Given the description of an element on the screen output the (x, y) to click on. 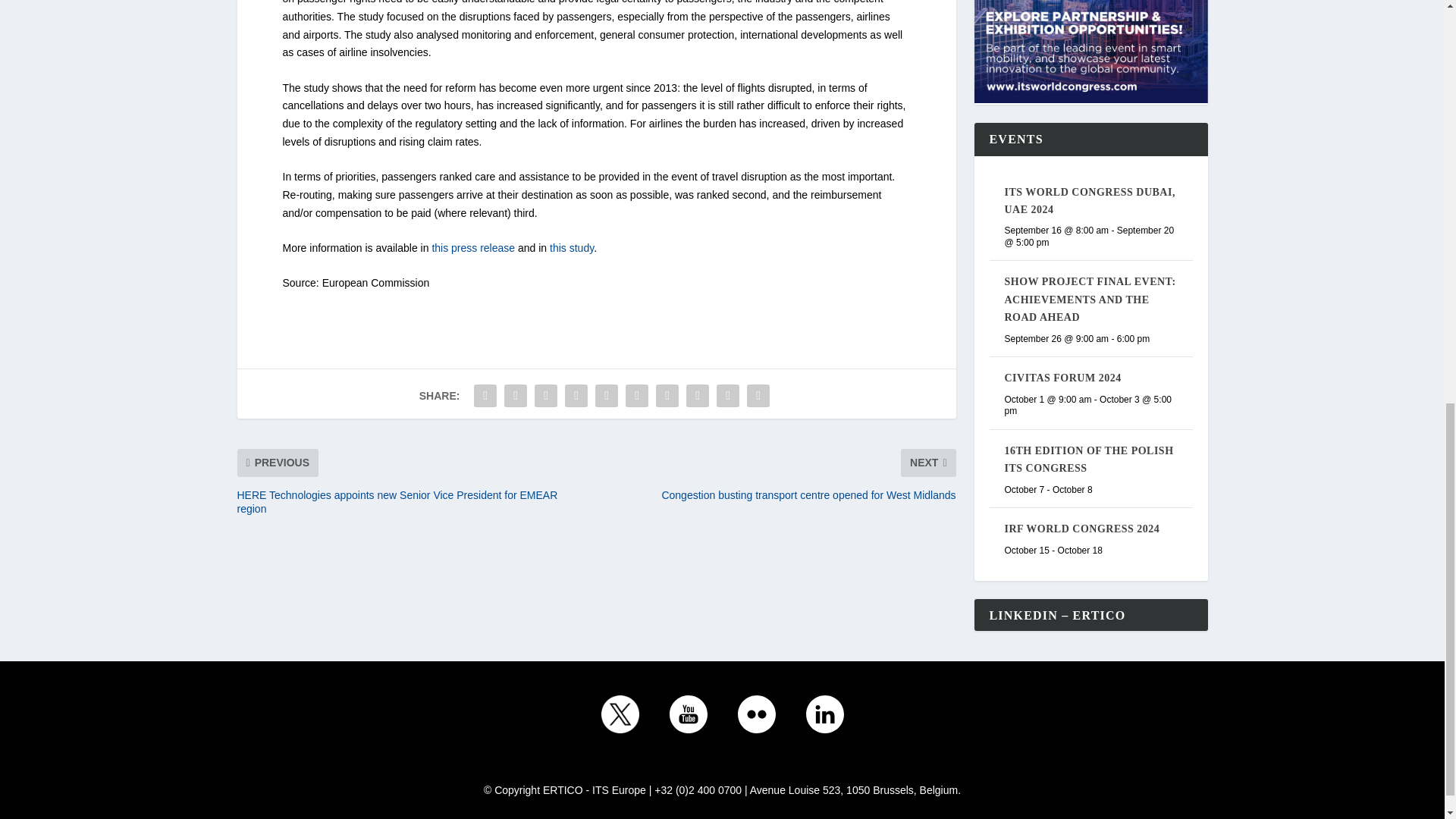
this press release (472, 247)
ITS WORLD CONGRESS DUBAI, UAE 2024 (1089, 200)
this study (572, 247)
